Given the description of an element on the screen output the (x, y) to click on. 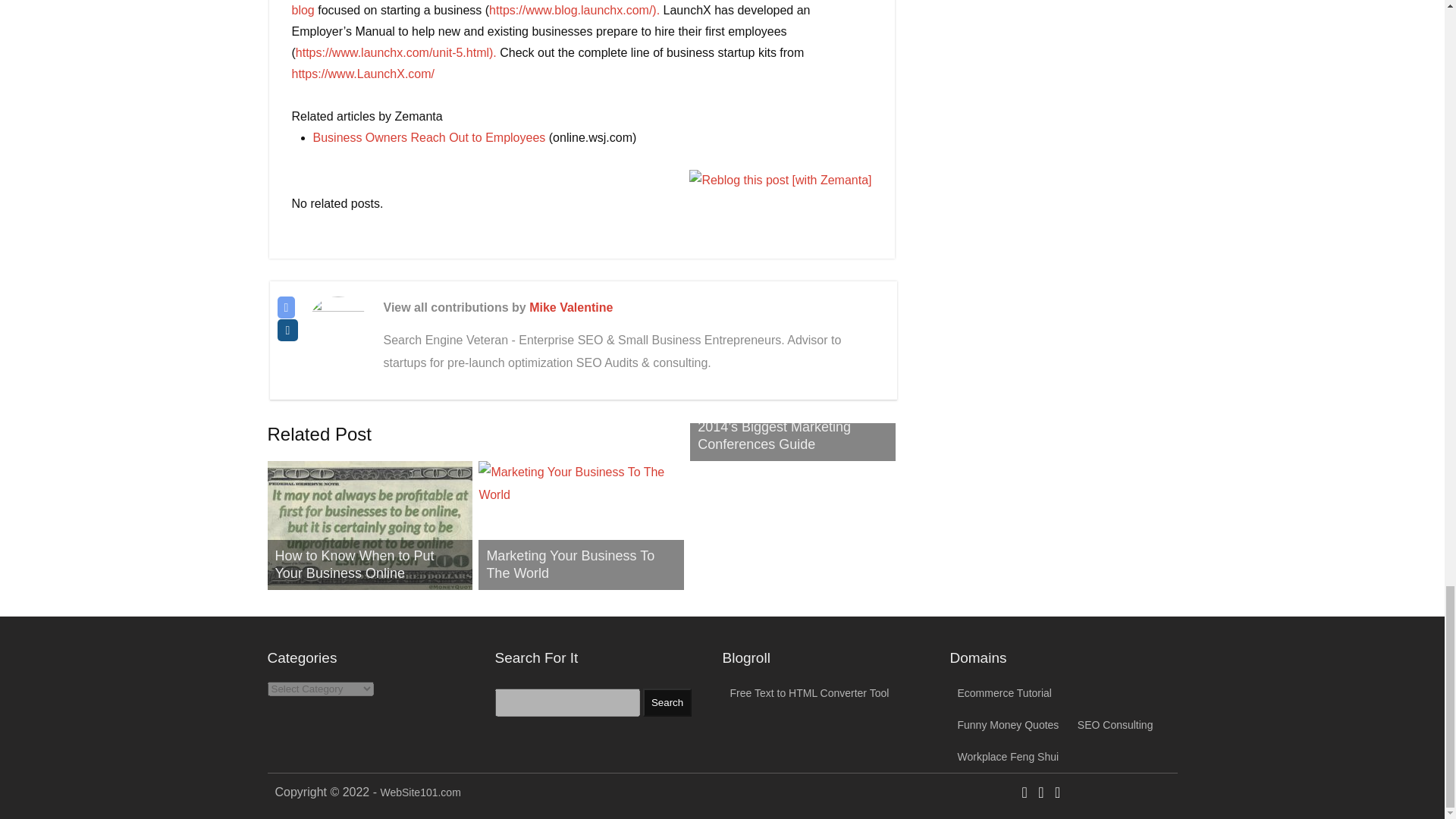
How to Know When to Put Your Business Online (368, 525)
How to Know When to Put Your Business Online (354, 563)
Free Text to HTML Converter Tool (808, 693)
Best Money Quotes Ever (1007, 725)
Ecommerce Tutorial (1003, 693)
SEO for Business (1115, 725)
Search (667, 702)
Funny Money Quotes (1007, 725)
Business Owners Reach Out to Employees (428, 137)
Facebook (1024, 793)
Mike Valentine (570, 307)
Search (667, 702)
Basics of Ecommerce (1003, 693)
Twitter (286, 307)
Twitter (1040, 793)
